Given the description of an element on the screen output the (x, y) to click on. 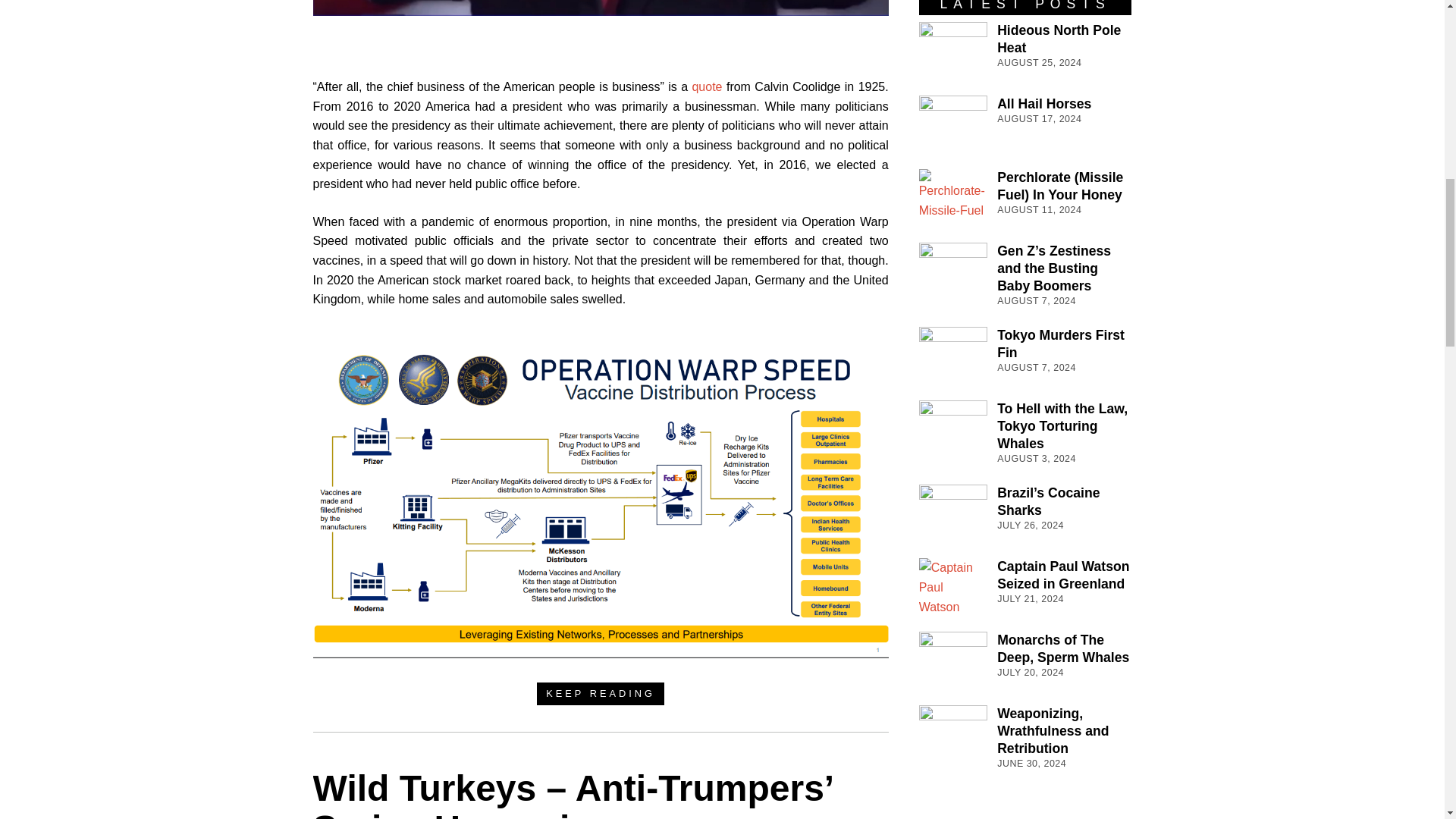
quote (708, 86)
Hideous North Pole Heat (1059, 38)
KEEP READING (600, 693)
All Hail Horses (1043, 103)
